Given the description of an element on the screen output the (x, y) to click on. 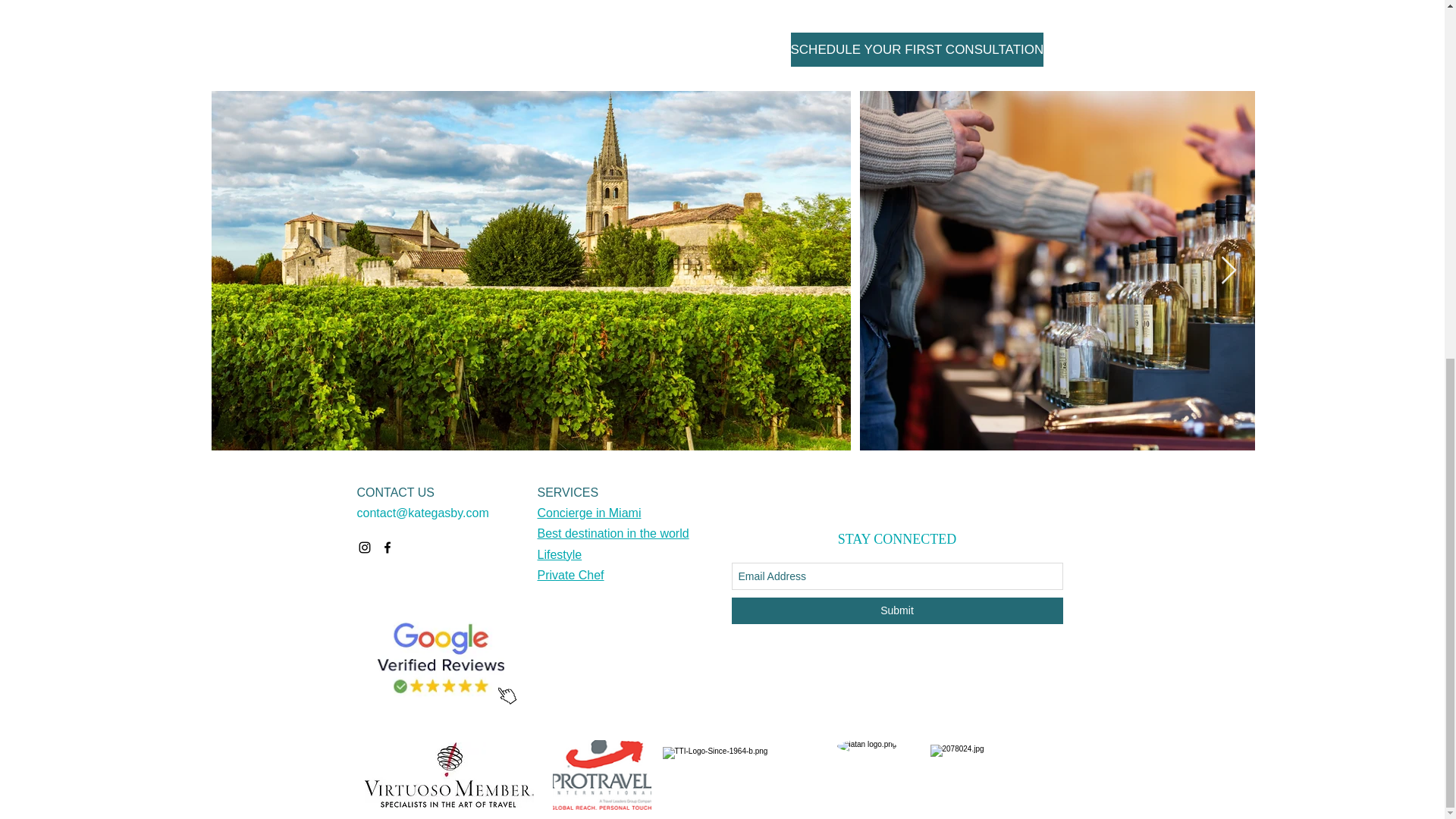
Concierge in Miami (588, 512)
Lifestyle (558, 554)
Best destination in the world (612, 533)
Submit (896, 610)
Private Chef (570, 574)
SCHEDULE YOUR FIRST CONSULTATION (916, 49)
